Given the description of an element on the screen output the (x, y) to click on. 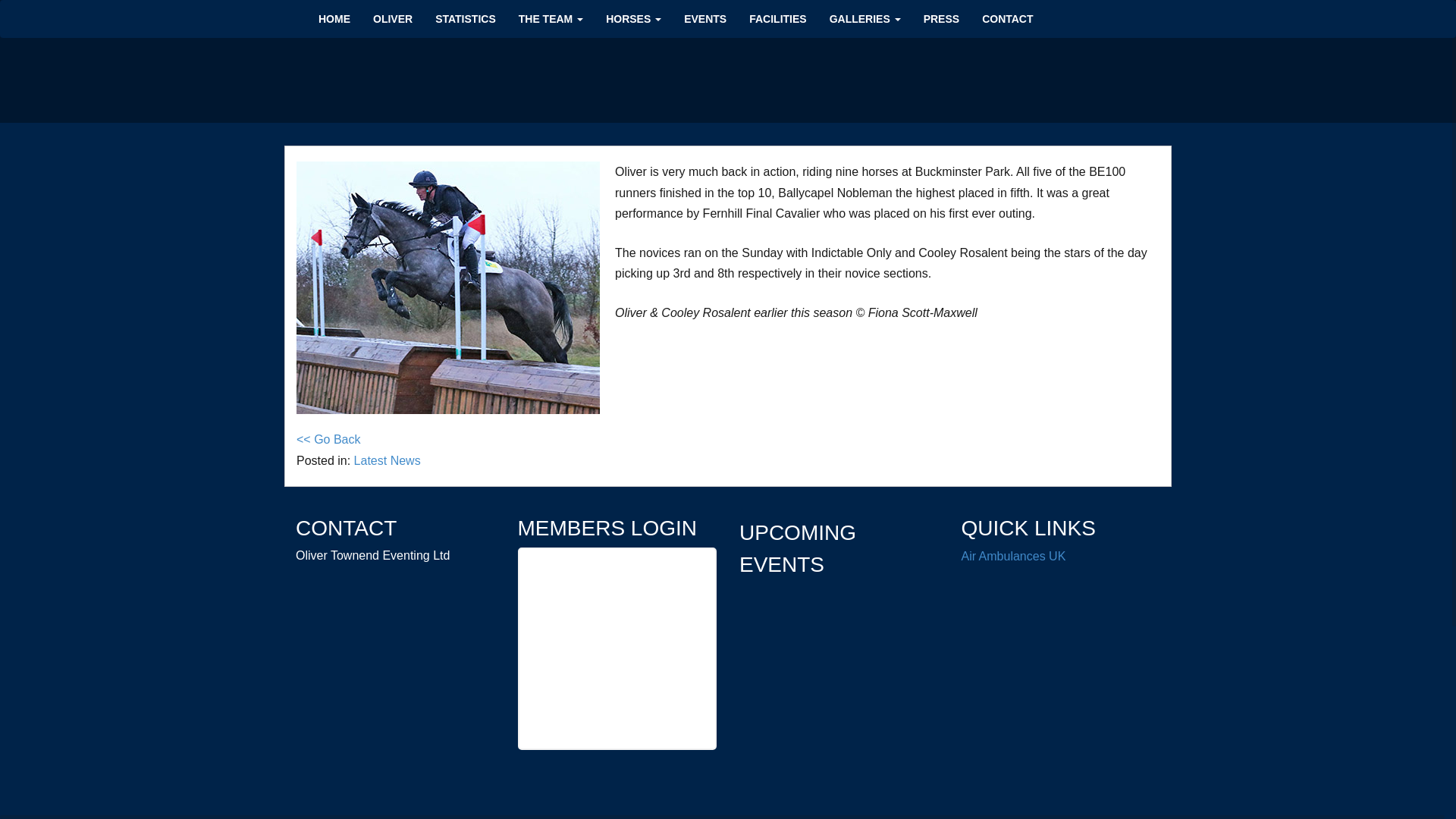
Air Ambulances UK (1012, 555)
Latest News (386, 459)
Login (617, 694)
